Given the description of an element on the screen output the (x, y) to click on. 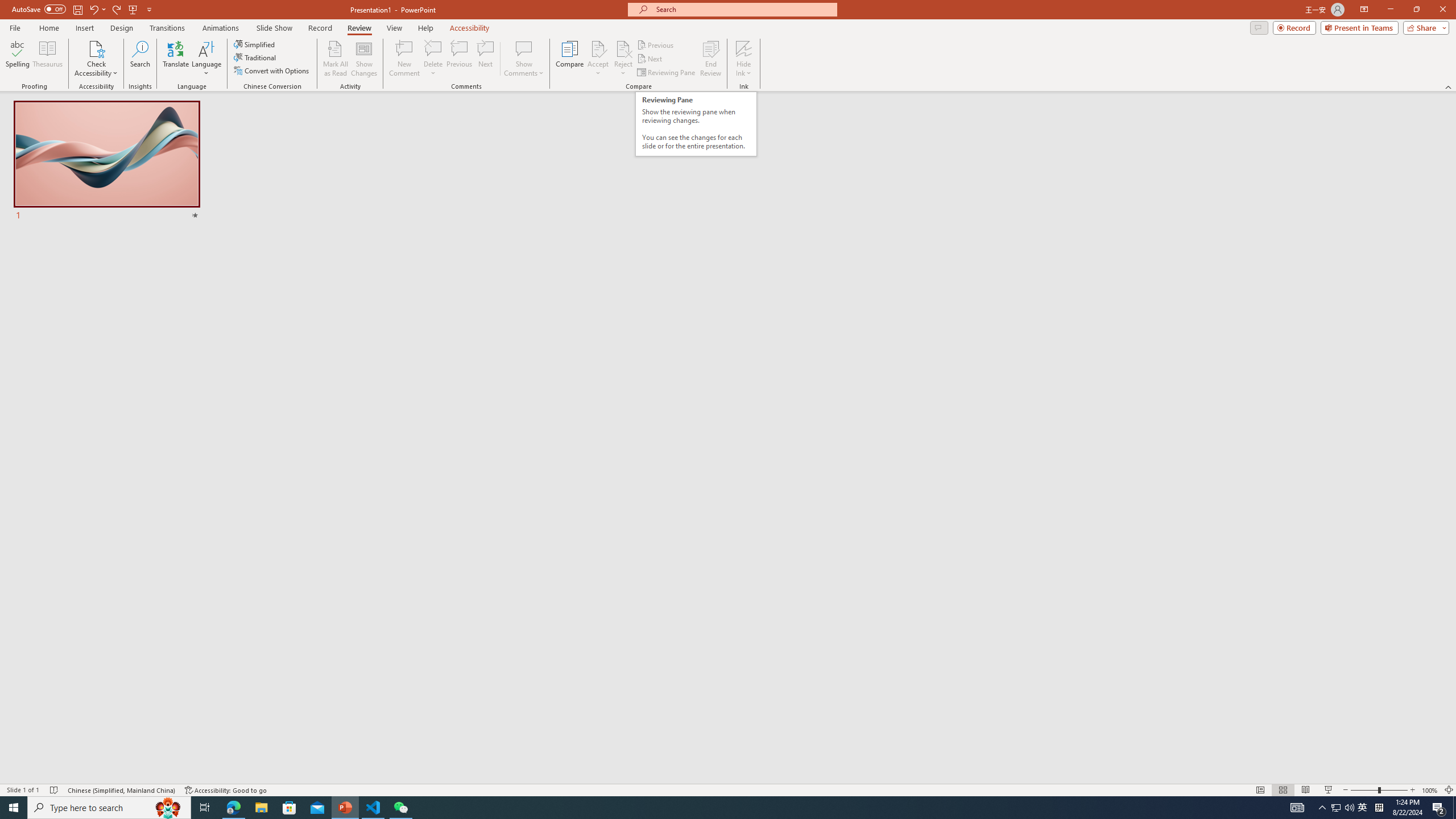
Translate (175, 58)
Next (649, 58)
